Given the description of an element on the screen output the (x, y) to click on. 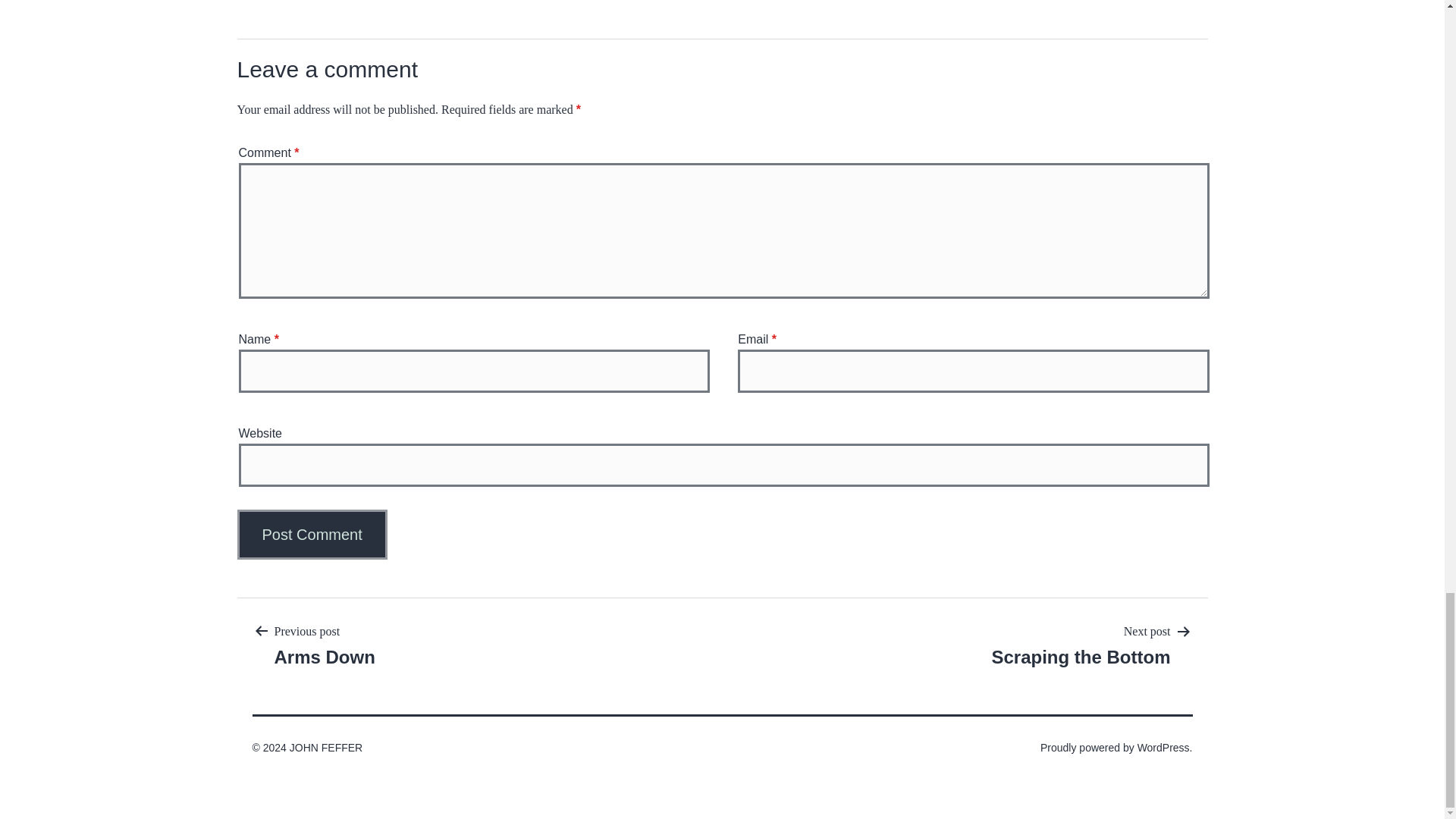
Post Comment (311, 534)
Post Comment (323, 644)
JOHN FEFFER (311, 534)
WordPress (325, 747)
